Given the description of an element on the screen output the (x, y) to click on. 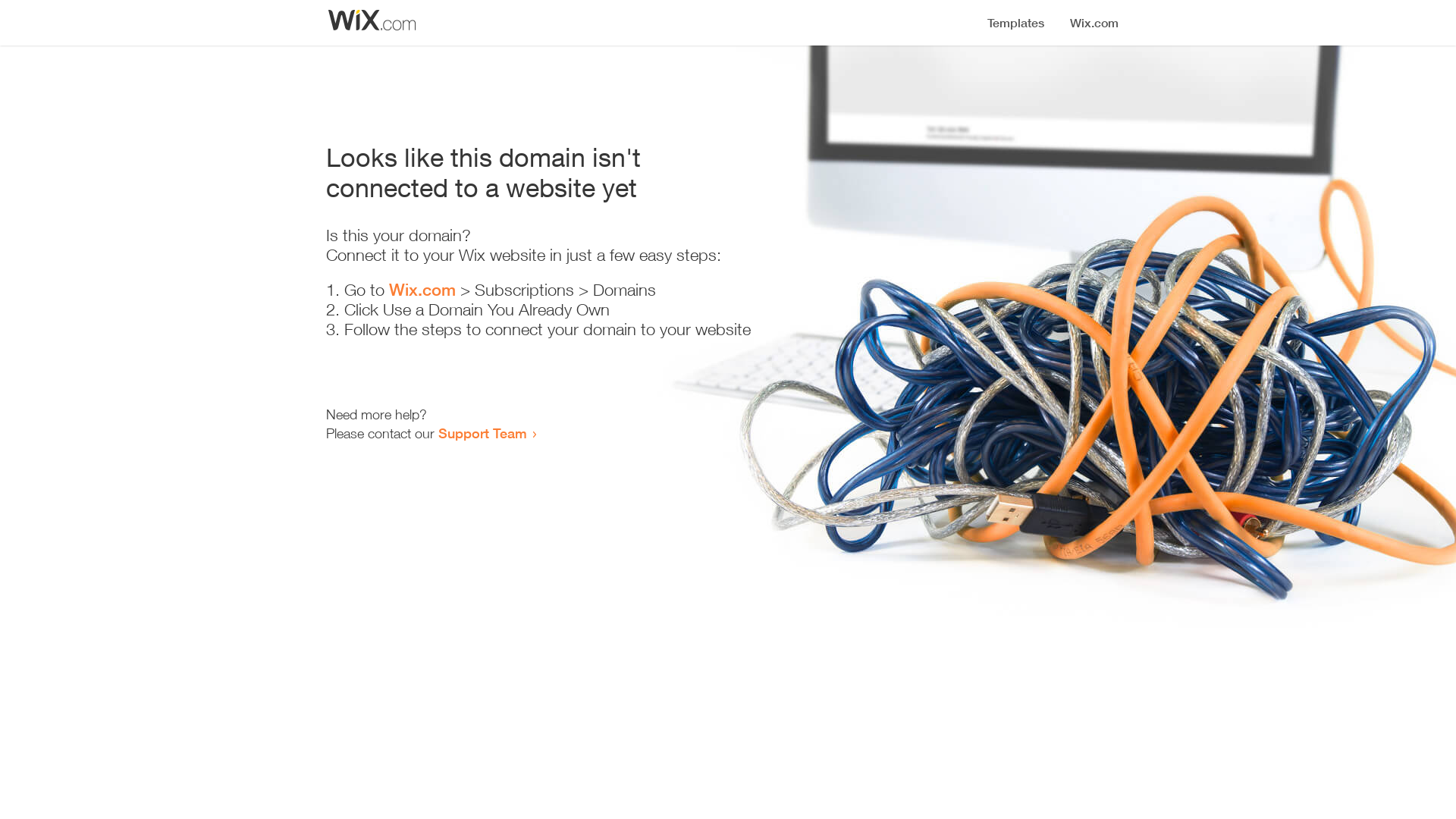
Support Team Element type: text (482, 432)
Wix.com Element type: text (422, 289)
